Given the description of an element on the screen output the (x, y) to click on. 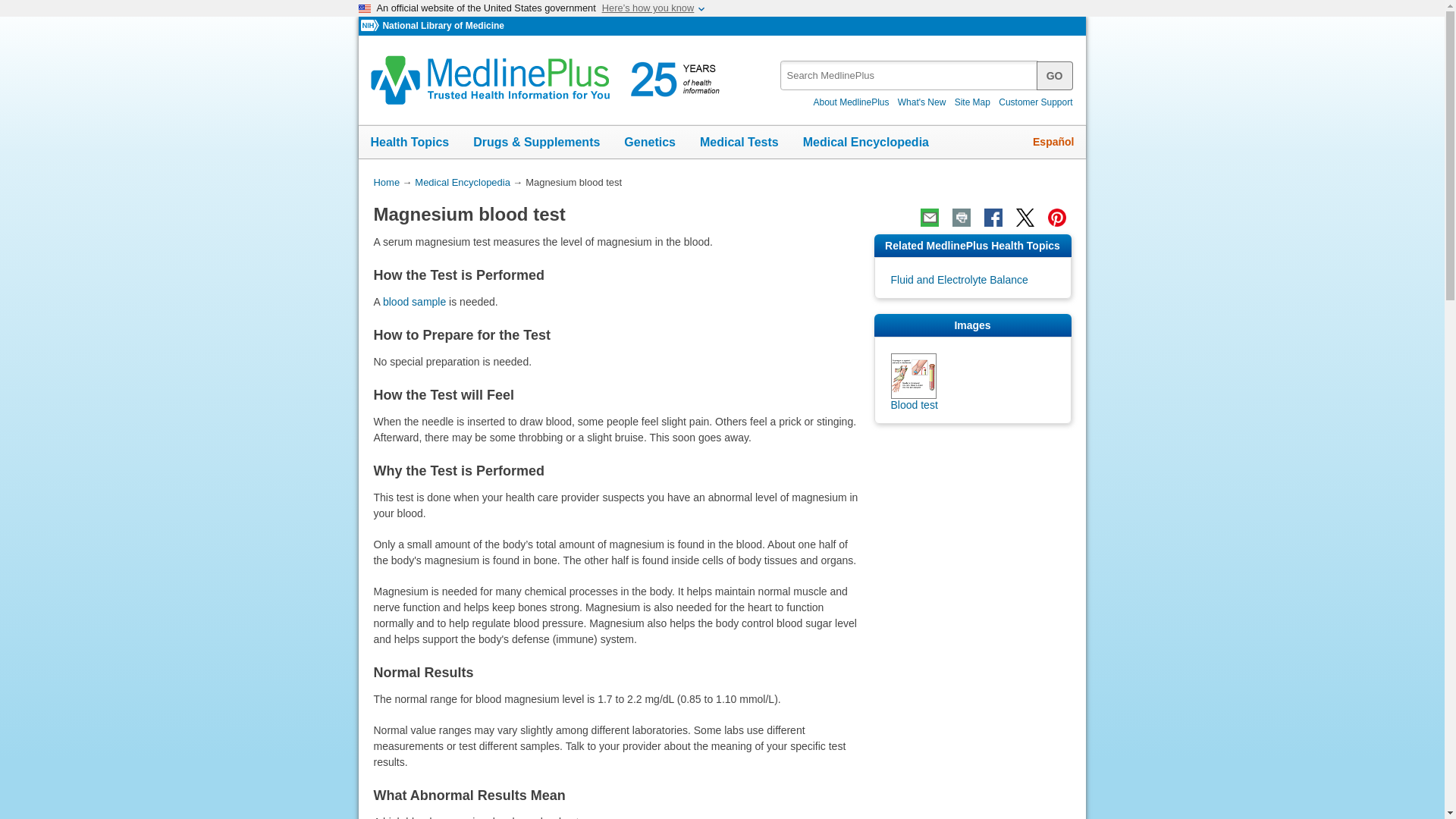
MedlinePlus Trusted Health Information for You (550, 79)
Site Search input (909, 75)
Pinterest (1056, 217)
Site Map (972, 102)
Medical Encyclopedia (865, 142)
What's New (922, 102)
Home (385, 182)
About MedlinePlus (851, 102)
Medical Tests (738, 142)
Health Topics (409, 142)
